Given the description of an element on the screen output the (x, y) to click on. 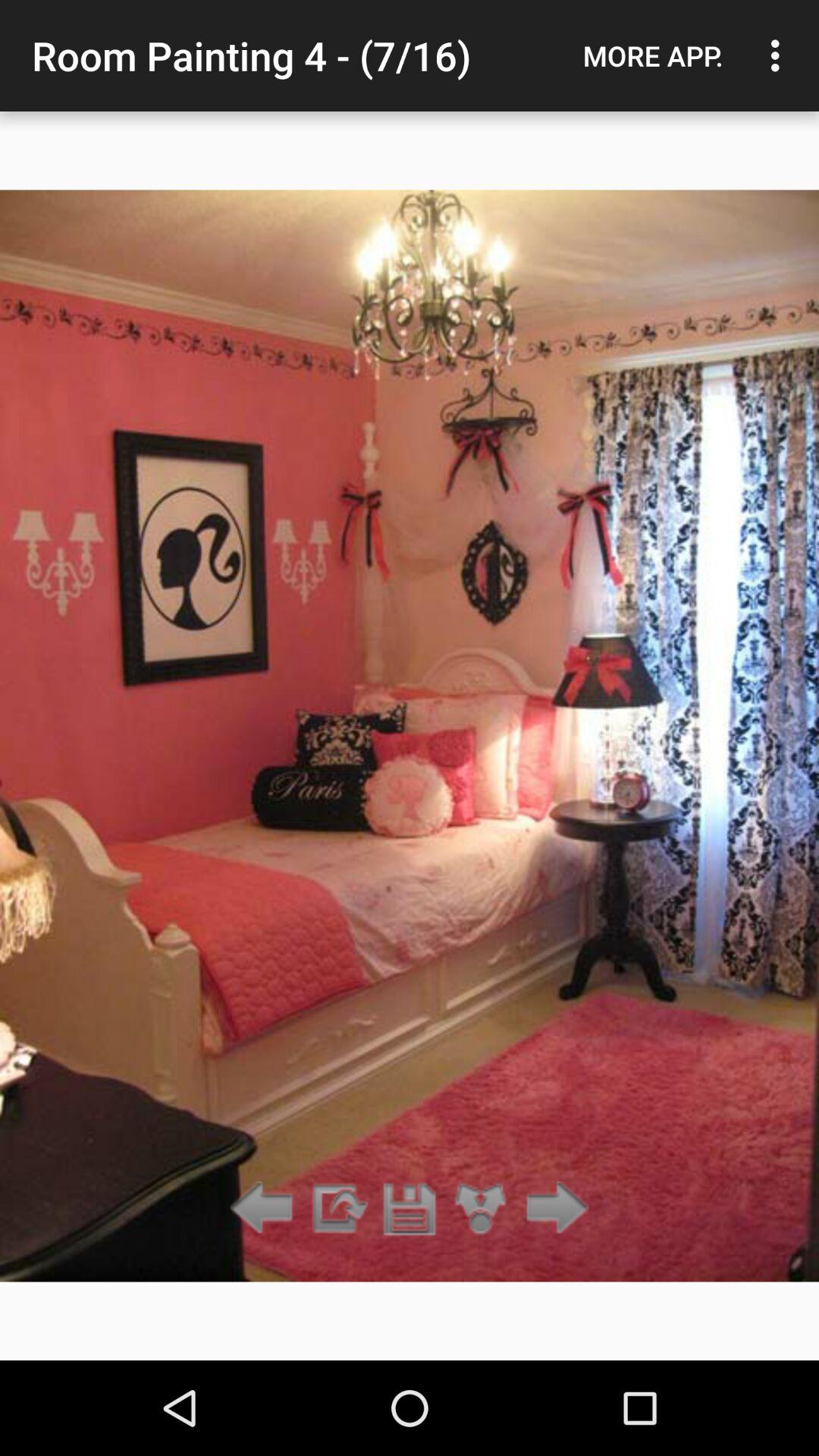
go to previous (266, 1209)
